Given the description of an element on the screen output the (x, y) to click on. 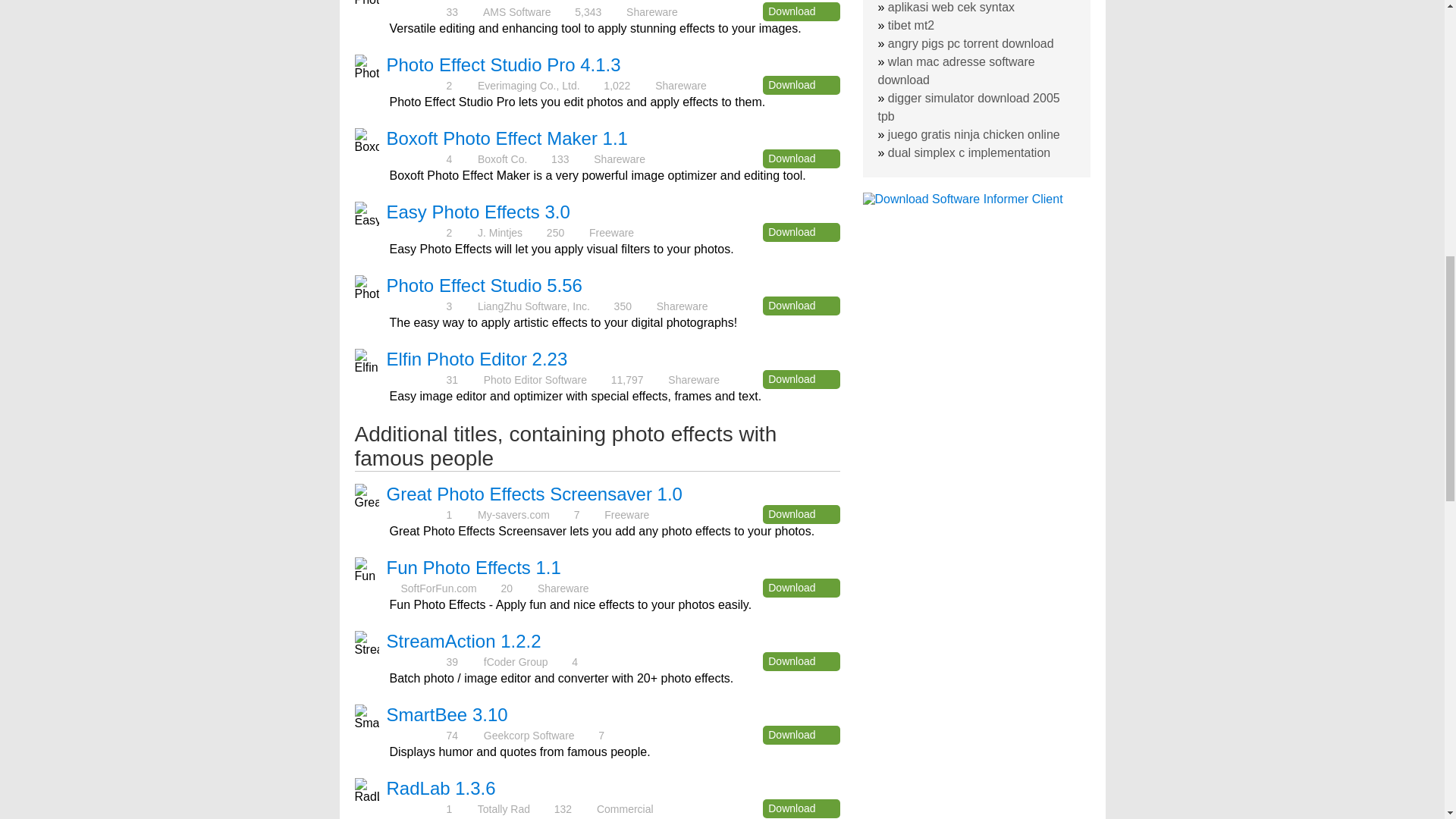
Download (801, 305)
Download (801, 11)
5 (415, 306)
Easy Photo Effects 3.0 (478, 211)
StreamAction 1.2.2 (464, 640)
2 (415, 158)
Download (801, 514)
4.5 (415, 232)
Photo Effect Studio 5.56 (484, 285)
Download (801, 379)
Boxoft Photo Effect Maker 1.1 (507, 137)
3 (415, 85)
Boxoft Photo Effect Maker 1.1 (507, 137)
Photo Effect Studio 5.56 (484, 285)
